Given the description of an element on the screen output the (x, y) to click on. 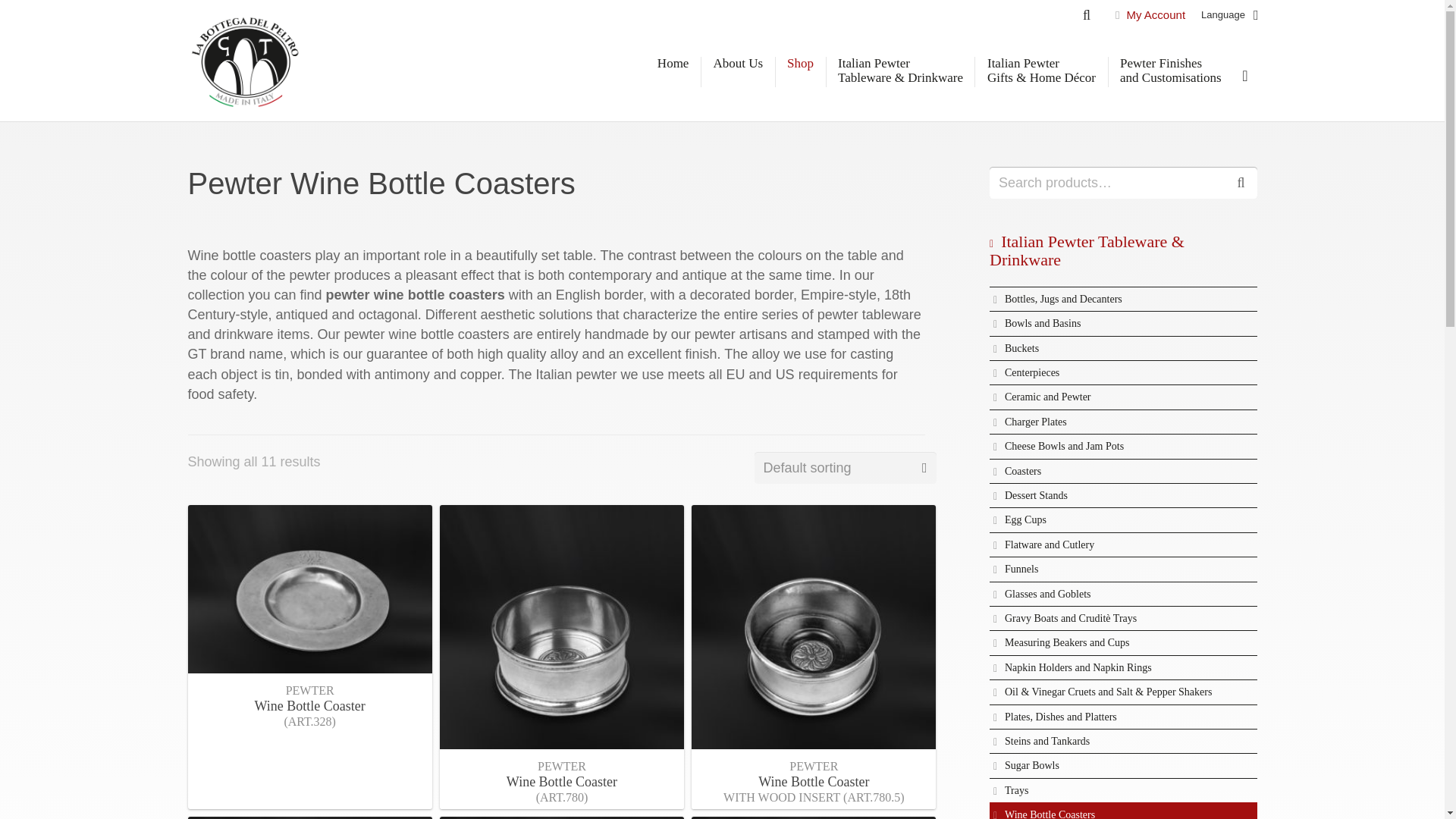
Language (1228, 14)
Shop (800, 63)
My Account (1156, 14)
Home (673, 63)
About Us (737, 63)
Search (1241, 183)
